Given the description of an element on the screen output the (x, y) to click on. 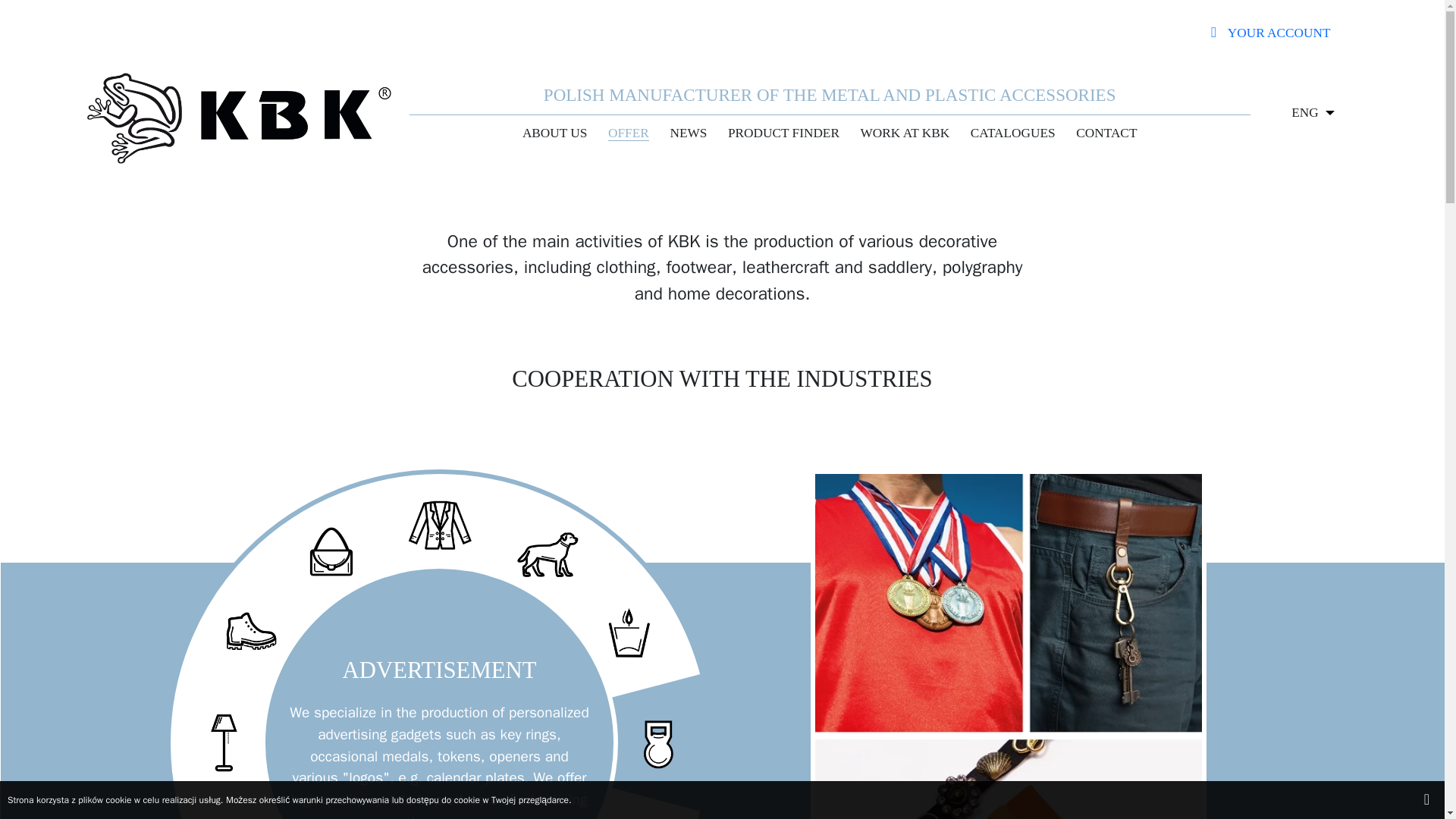
WORK AT KBK (904, 133)
PRODUCT FINDER (783, 133)
CATALOGUES (1012, 133)
CONTACT (1106, 133)
YOUR ACCOUNT (1270, 32)
OFFER (627, 133)
ABOUT US (554, 133)
NEWS (688, 133)
